Given the description of an element on the screen output the (x, y) to click on. 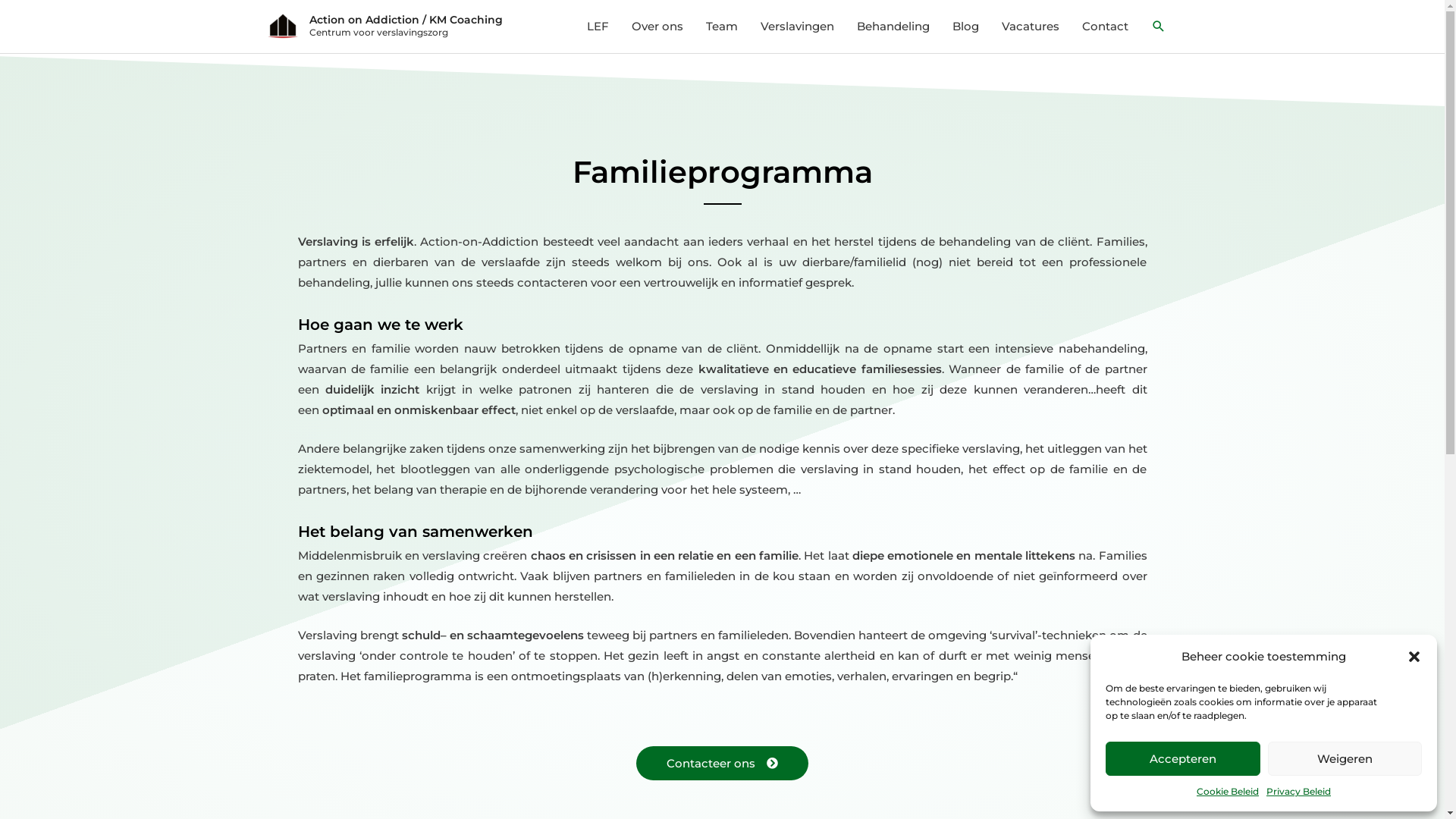
Accepteren Element type: text (1182, 758)
Verslavingen Element type: text (797, 26)
Cookie Beleid Element type: text (1227, 791)
Contact Element type: text (1104, 26)
Behandeling Element type: text (892, 26)
Contacteer ons Element type: text (722, 763)
LEF Element type: text (596, 26)
Vacatures Element type: text (1030, 26)
Team Element type: text (721, 26)
Over ons Element type: text (657, 26)
Blog Element type: text (964, 26)
Action on Addiction / KM Coaching Element type: text (405, 19)
Weigeren Element type: text (1344, 758)
Privacy Beleid Element type: text (1298, 791)
